Given the description of an element on the screen output the (x, y) to click on. 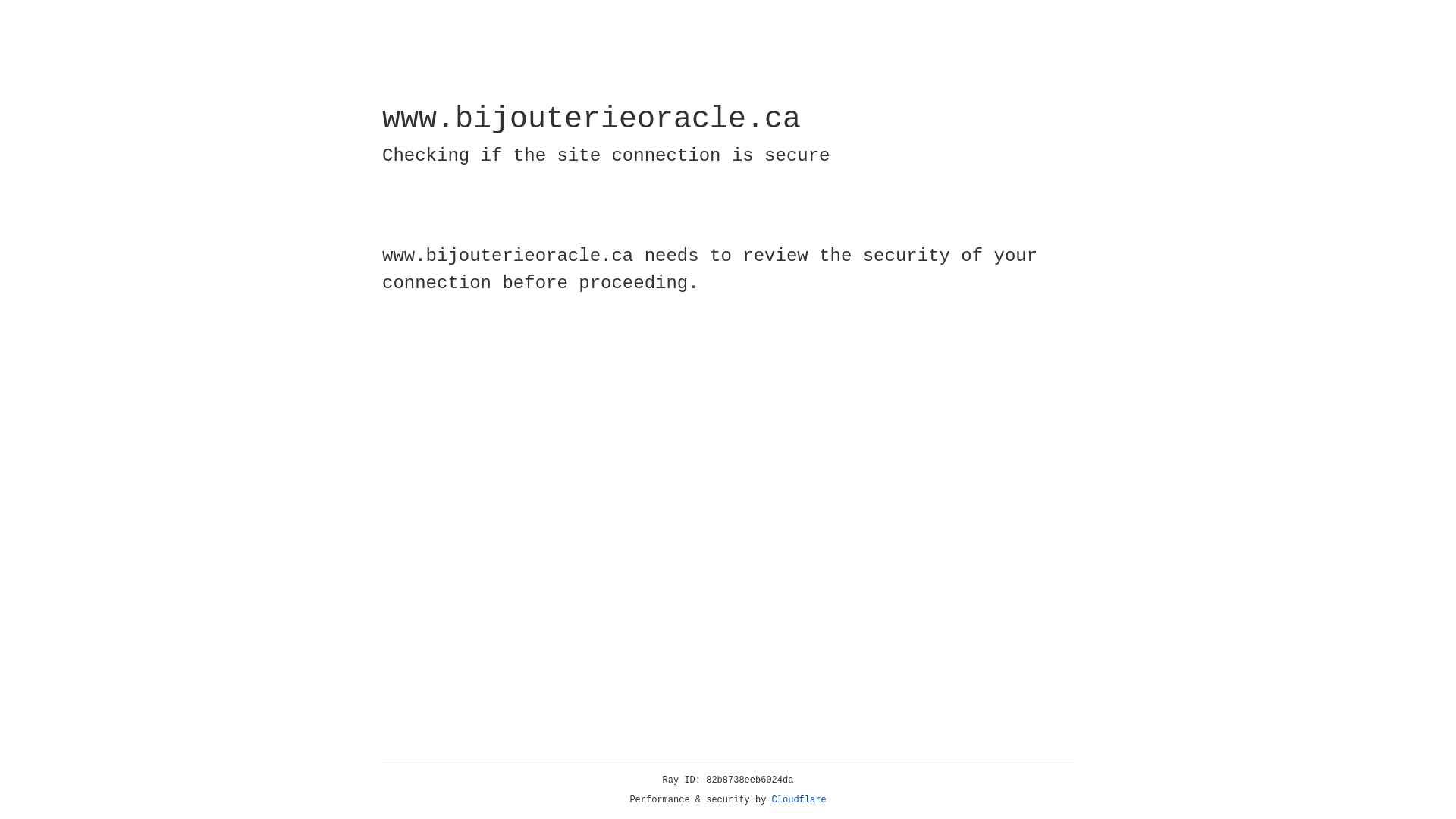
Cloudflare Element type: text (798, 799)
